Given the description of an element on the screen output the (x, y) to click on. 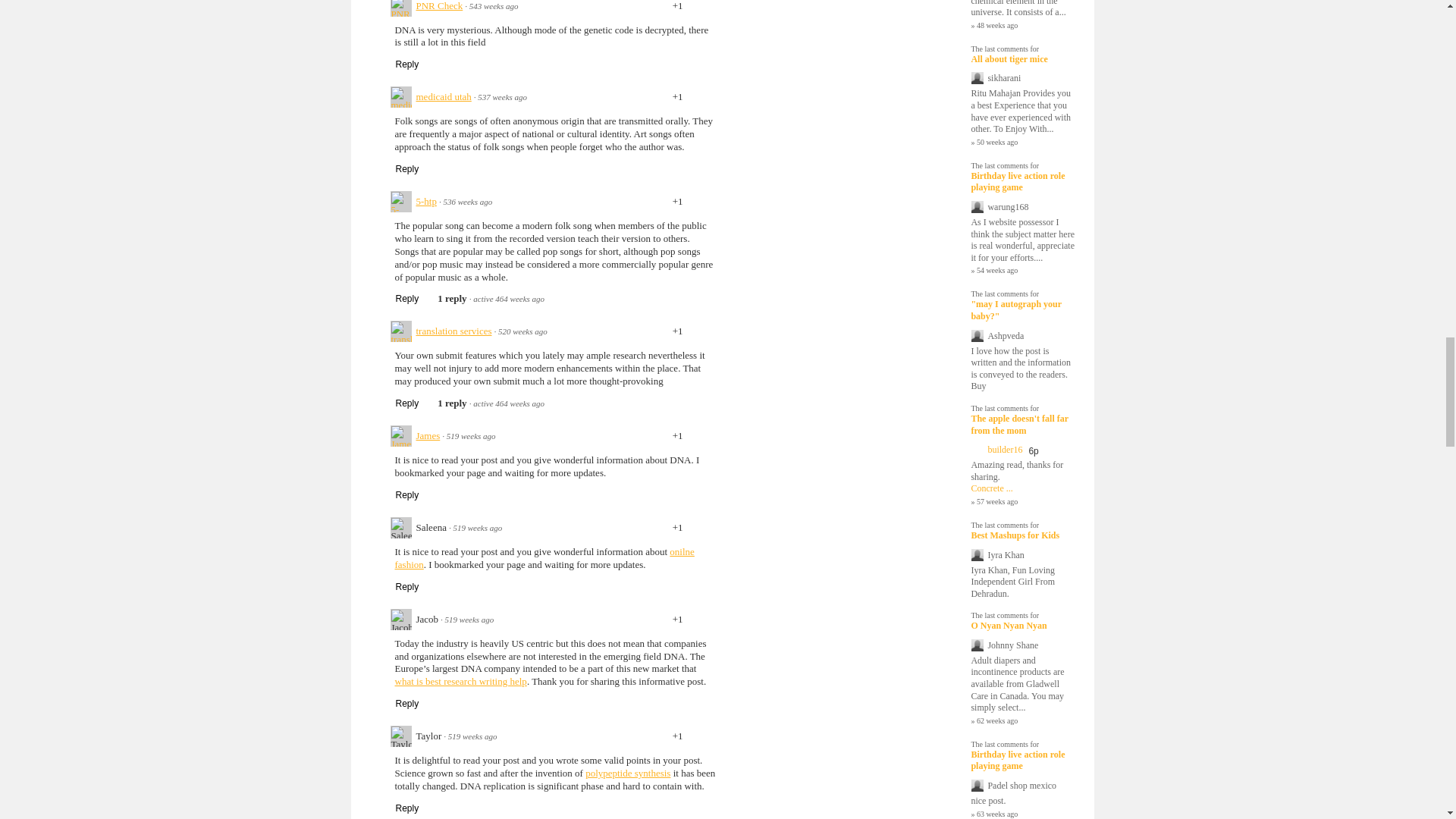
Comment Permalink (467, 201)
Comment Permalink (502, 96)
Comment Permalink (522, 330)
Comment Permalink (493, 5)
